Given the description of an element on the screen output the (x, y) to click on. 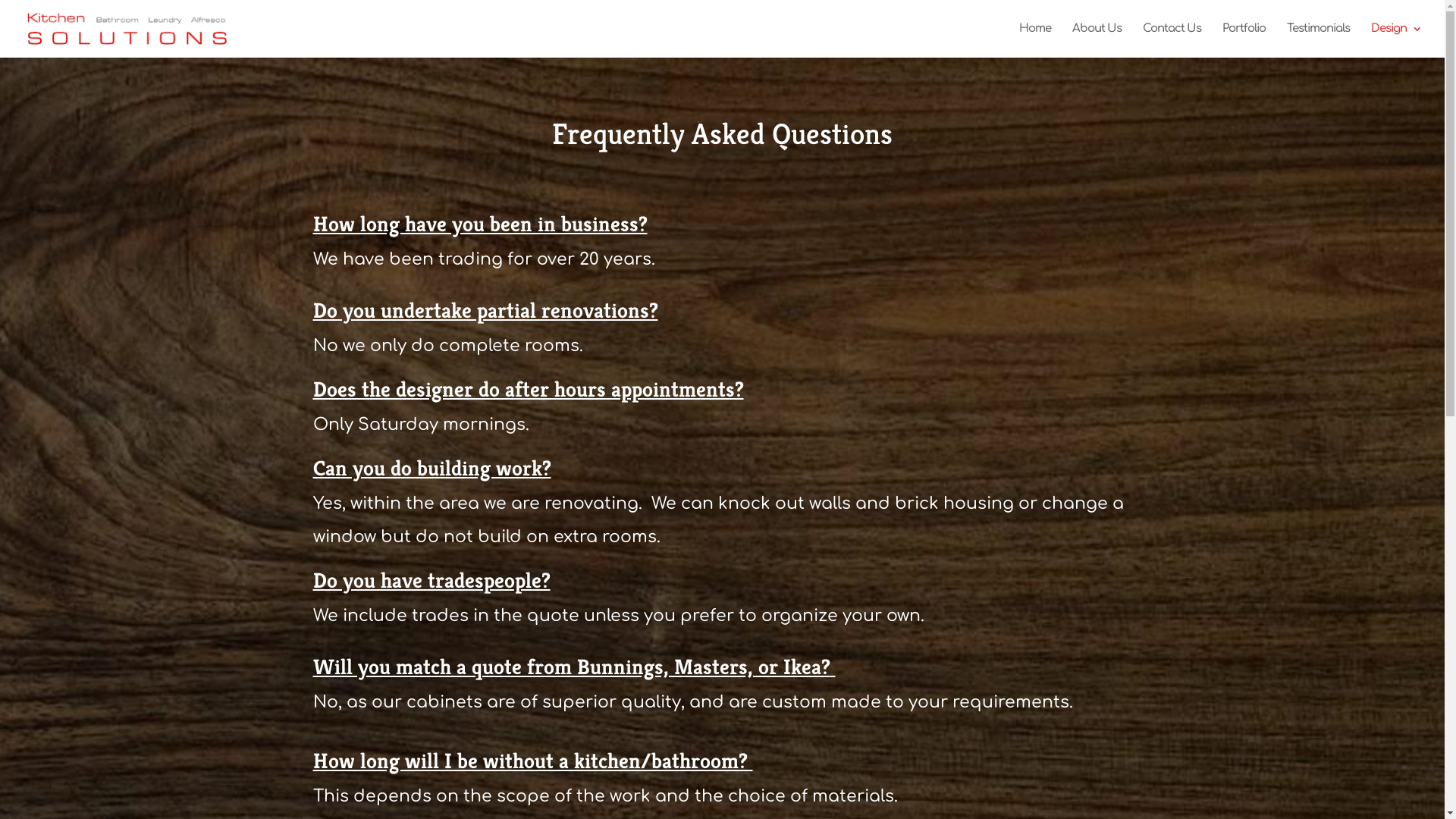
Portfolio Element type: text (1243, 40)
Home Element type: text (1035, 40)
Contact Us Element type: text (1171, 40)
Testimonials Element type: text (1317, 40)
Design Element type: text (1396, 40)
About Us Element type: text (1096, 40)
